Given the description of an element on the screen output the (x, y) to click on. 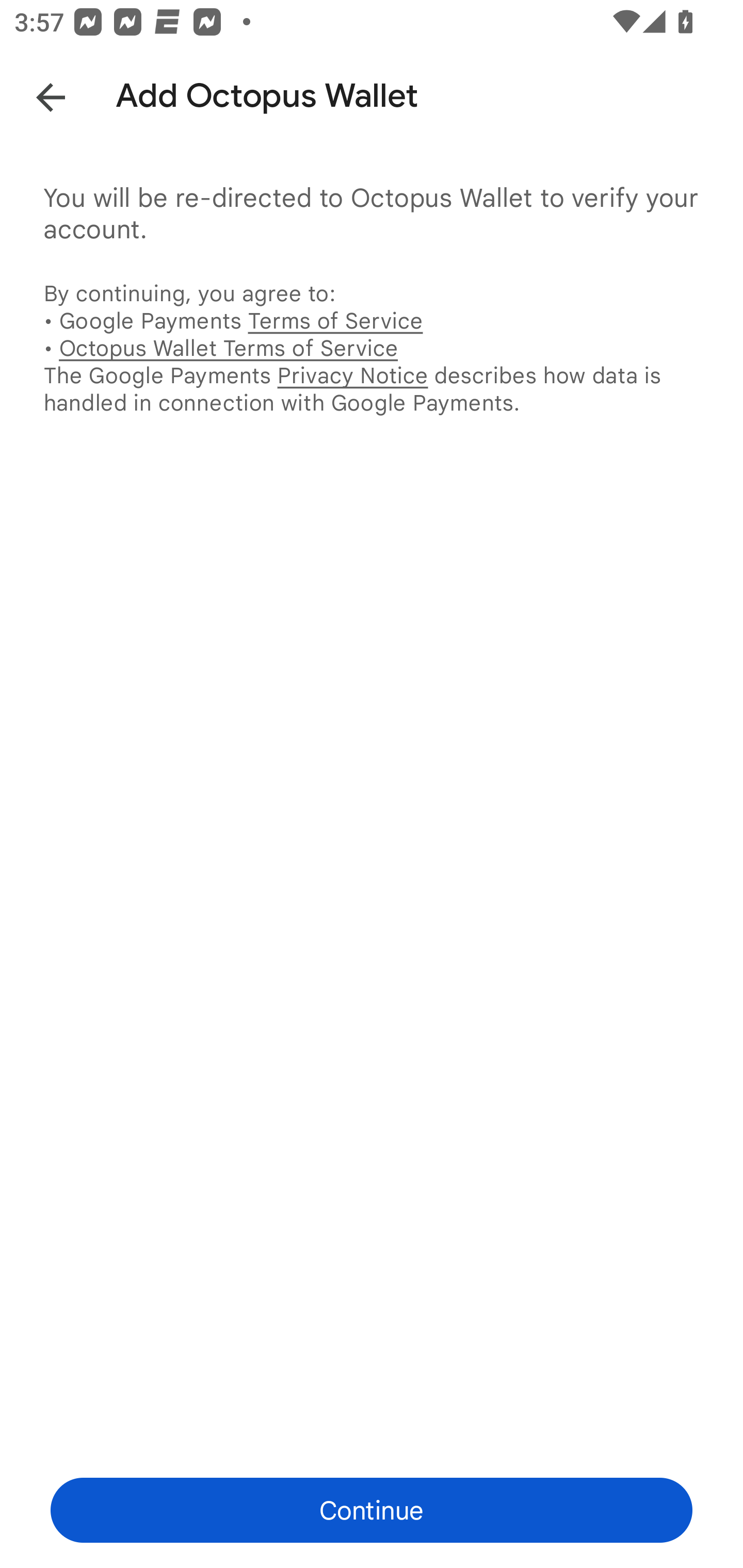
Back (36, 94)
Terms of Service (334, 320)
Octopus Wallet Terms of Service (227, 347)
Privacy Notice (352, 375)
Continue (371, 1510)
